Given the description of an element on the screen output the (x, y) to click on. 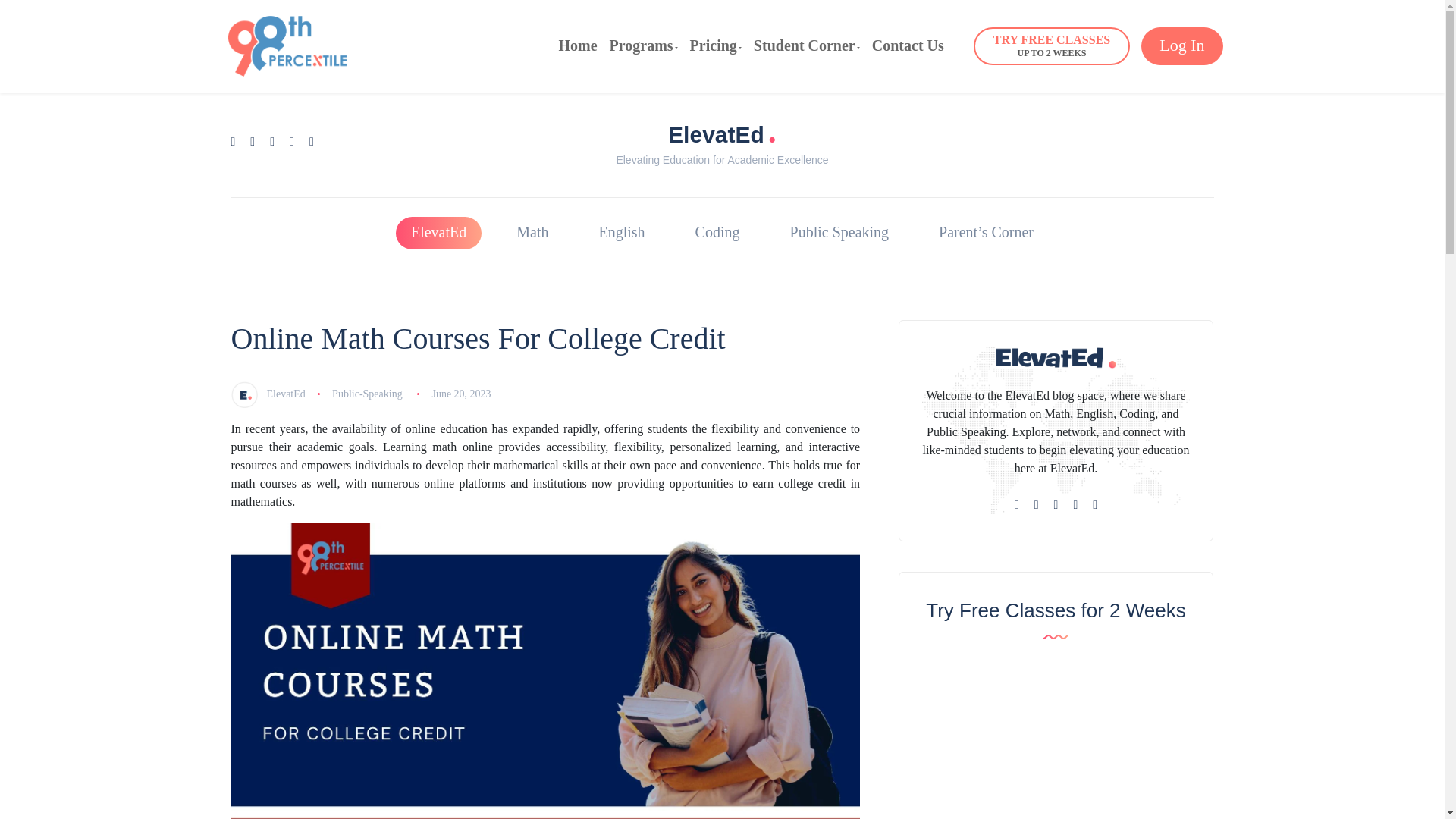
Pricing (1051, 46)
Programs (715, 45)
Contact Us (644, 45)
Home (907, 45)
ElevatEd. (576, 45)
Programs (721, 131)
Book Trial Classes (644, 45)
Pricing (1051, 46)
Coding (715, 45)
Student Corner (717, 233)
Log In (807, 45)
Math (1182, 46)
ElevatEd (531, 233)
Log In (438, 233)
